Given the description of an element on the screen output the (x, y) to click on. 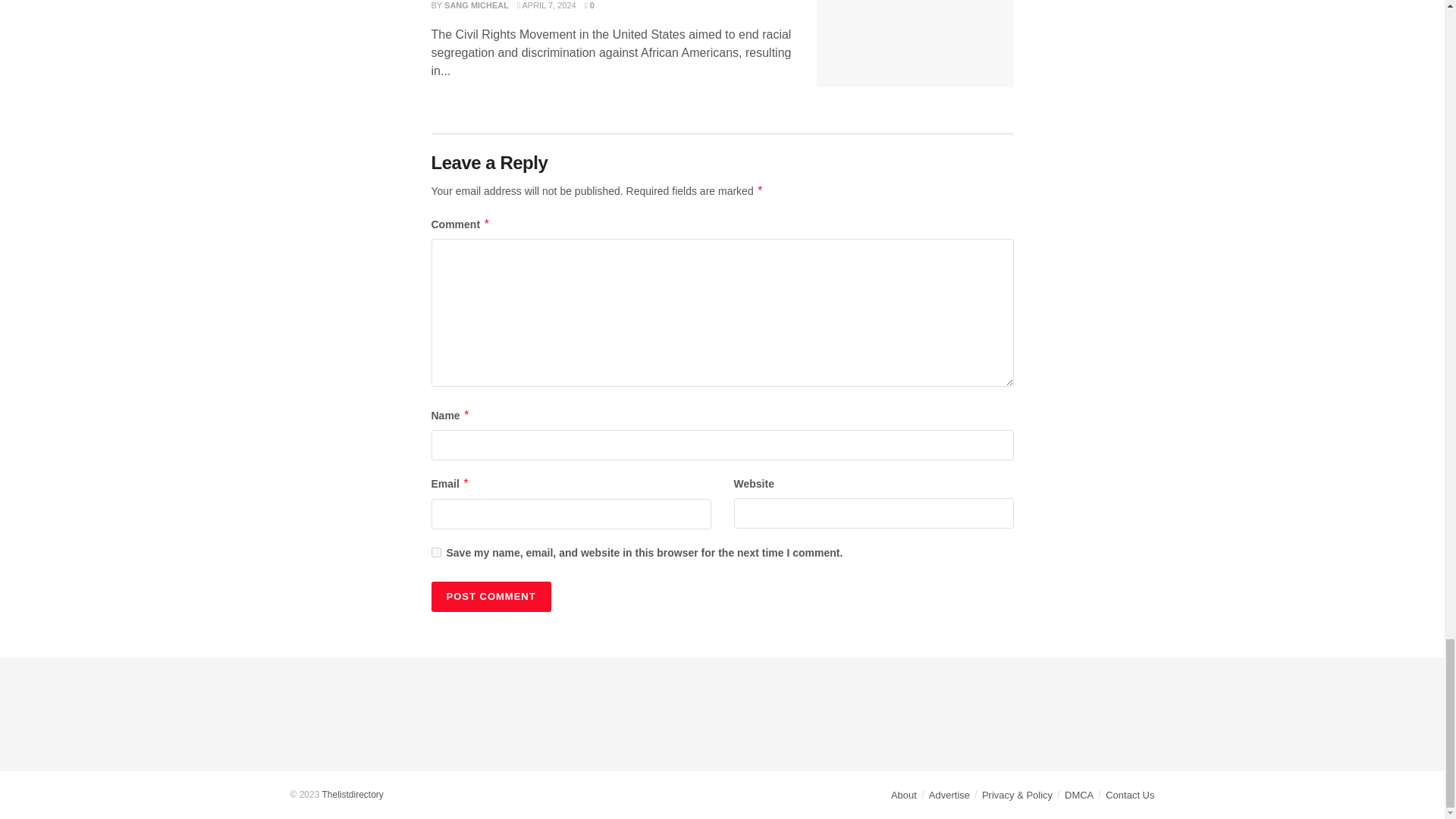
The list directory (351, 794)
yes (435, 552)
Post Comment (490, 596)
